Given the description of an element on the screen output the (x, y) to click on. 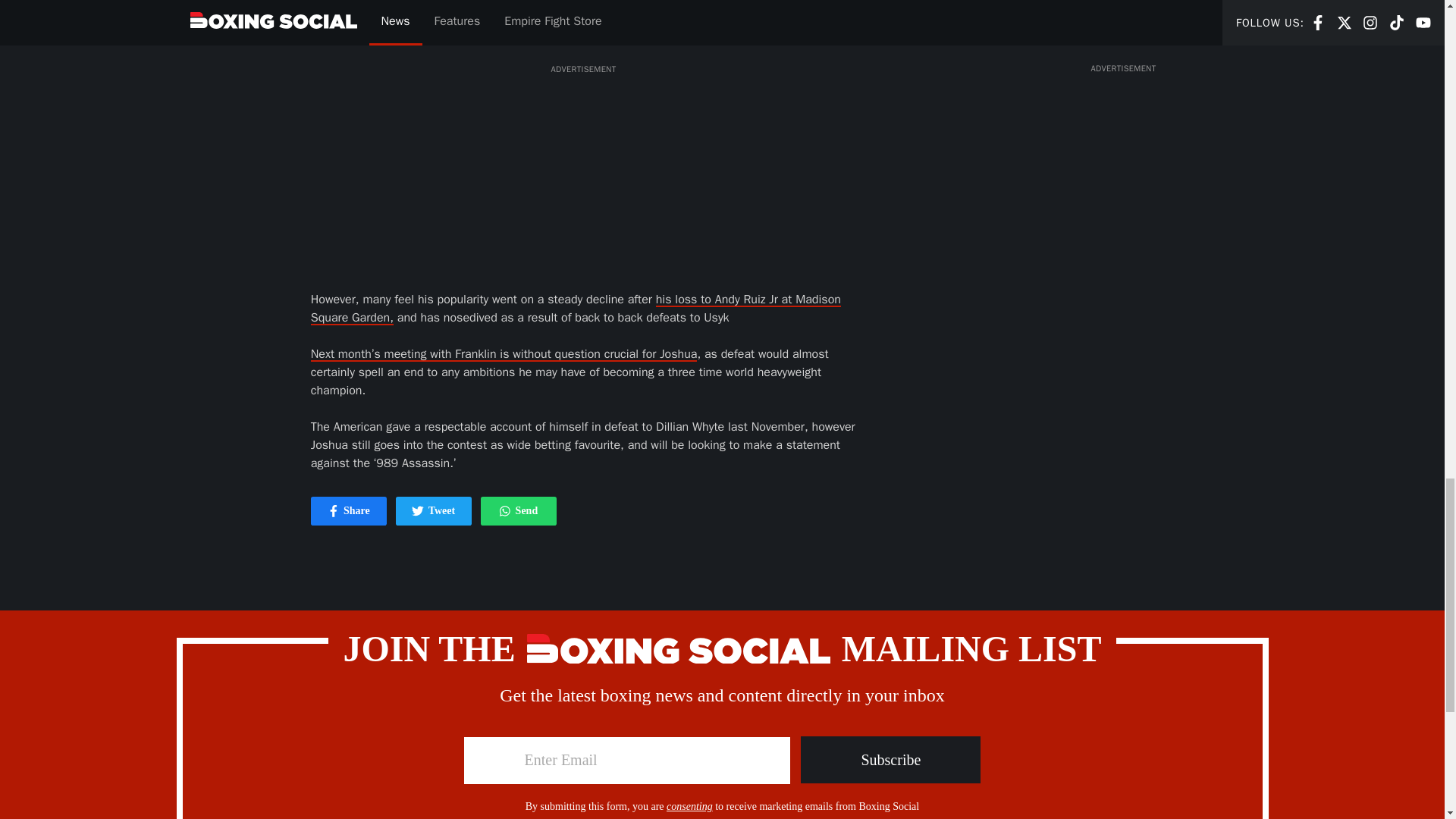
consenting (689, 806)
Facebook (349, 510)
Twitter (333, 510)
WhatsApp (417, 510)
Subscribe (518, 510)
Subscribe (433, 510)
his loss to Andy Ruiz Jr at Madison Square Garden, (505, 510)
